Given the description of an element on the screen output the (x, y) to click on. 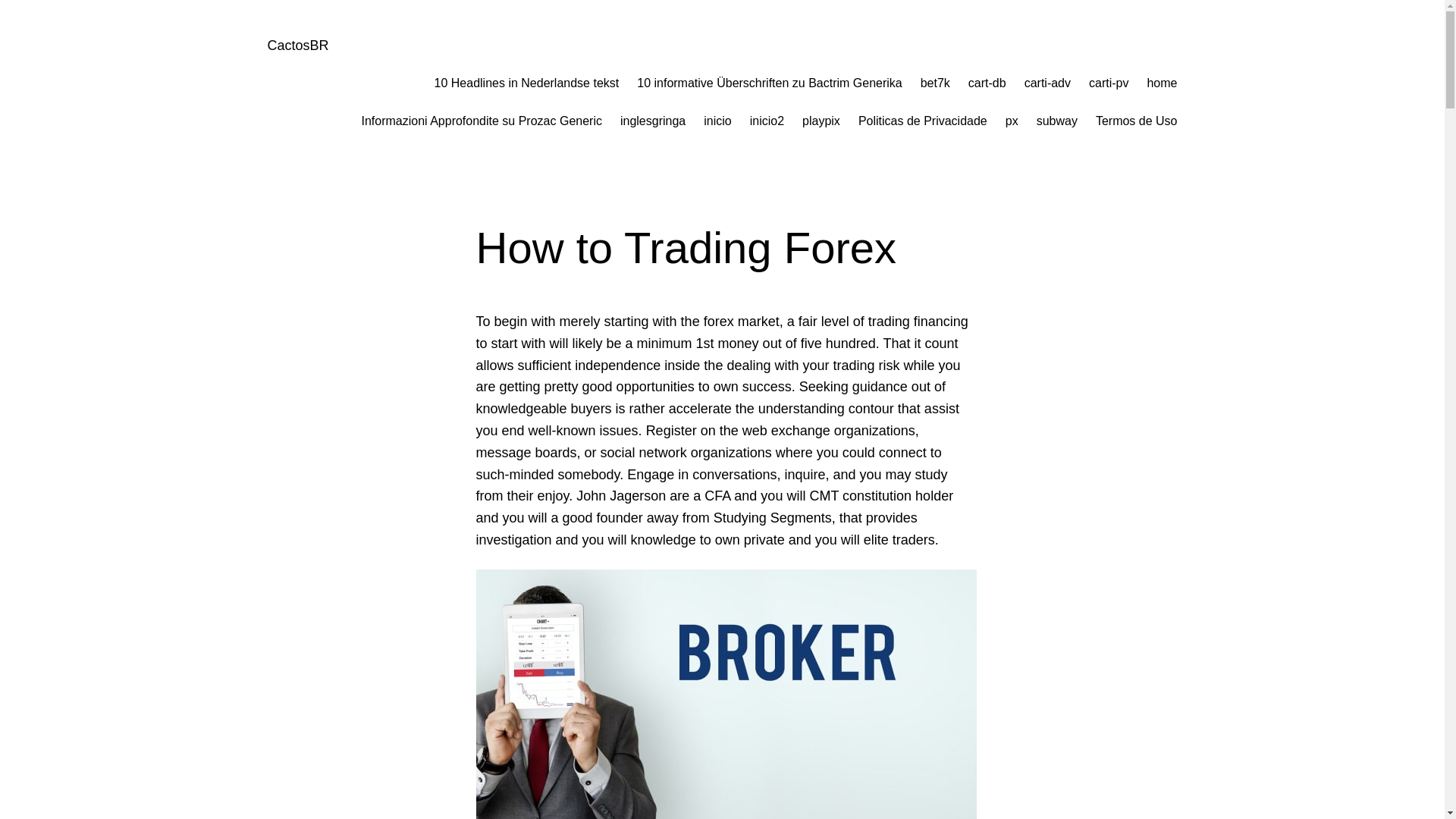
Informazioni Approfondite su Prozac Generic (481, 121)
bet7k (935, 83)
inglesgringa (652, 121)
10 Headlines in Nederlandse tekst (526, 83)
carti-adv (1047, 83)
cart-db (987, 83)
playpix (821, 121)
carti-pv (1108, 83)
Termos de Uso (1136, 121)
Politicas de Privacidade (923, 121)
